Given the description of an element on the screen output the (x, y) to click on. 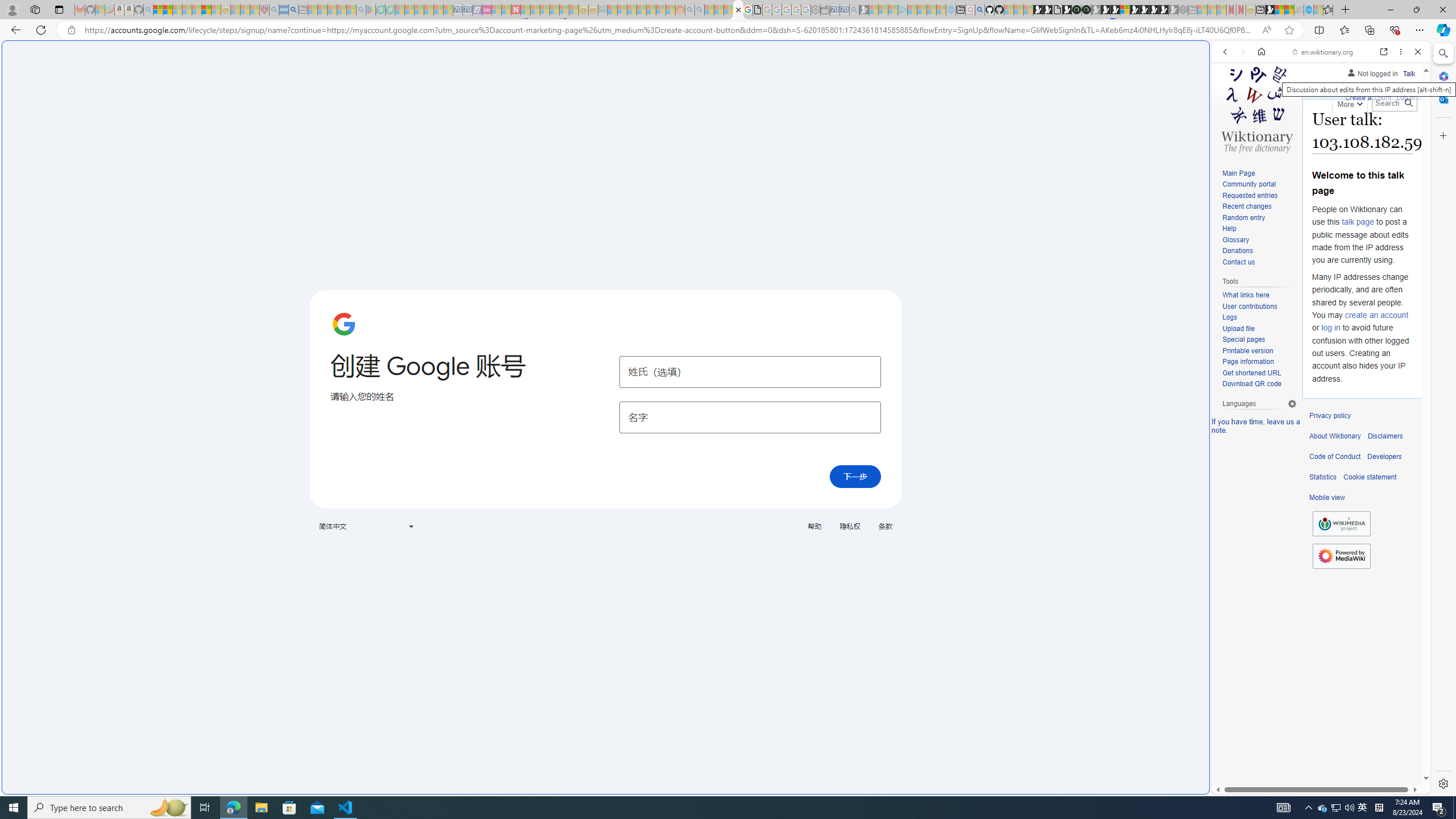
AutomationID: footer-copyrightico (1341, 523)
What links here (1245, 295)
Wikimedia Foundation (1341, 524)
Create account (1367, 98)
Special pages (1243, 339)
